Given the description of an element on the screen output the (x, y) to click on. 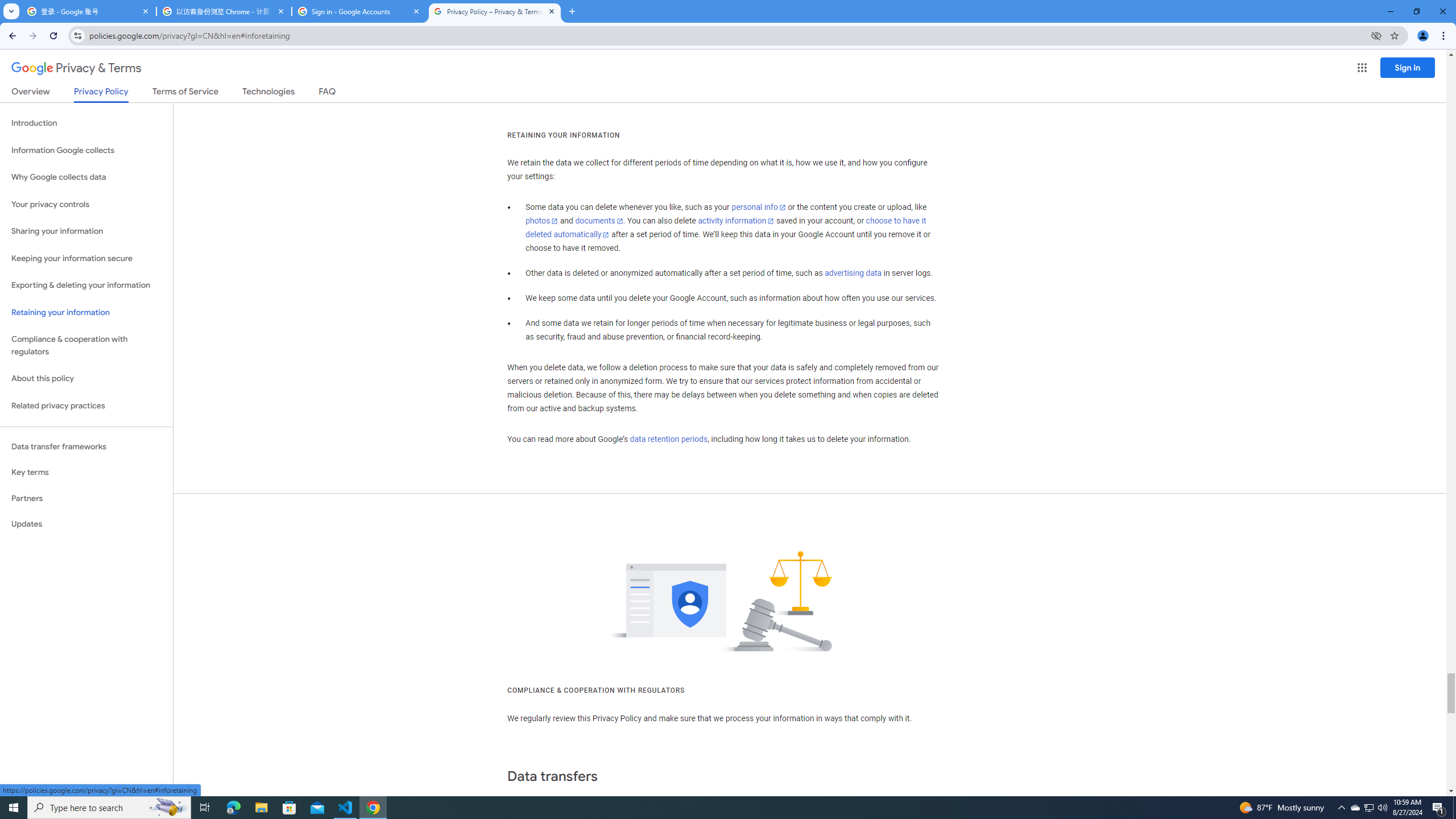
data retention periods (667, 439)
personal info (758, 207)
Privacy & Terms (76, 68)
Related privacy practices (86, 405)
